Given the description of an element on the screen output the (x, y) to click on. 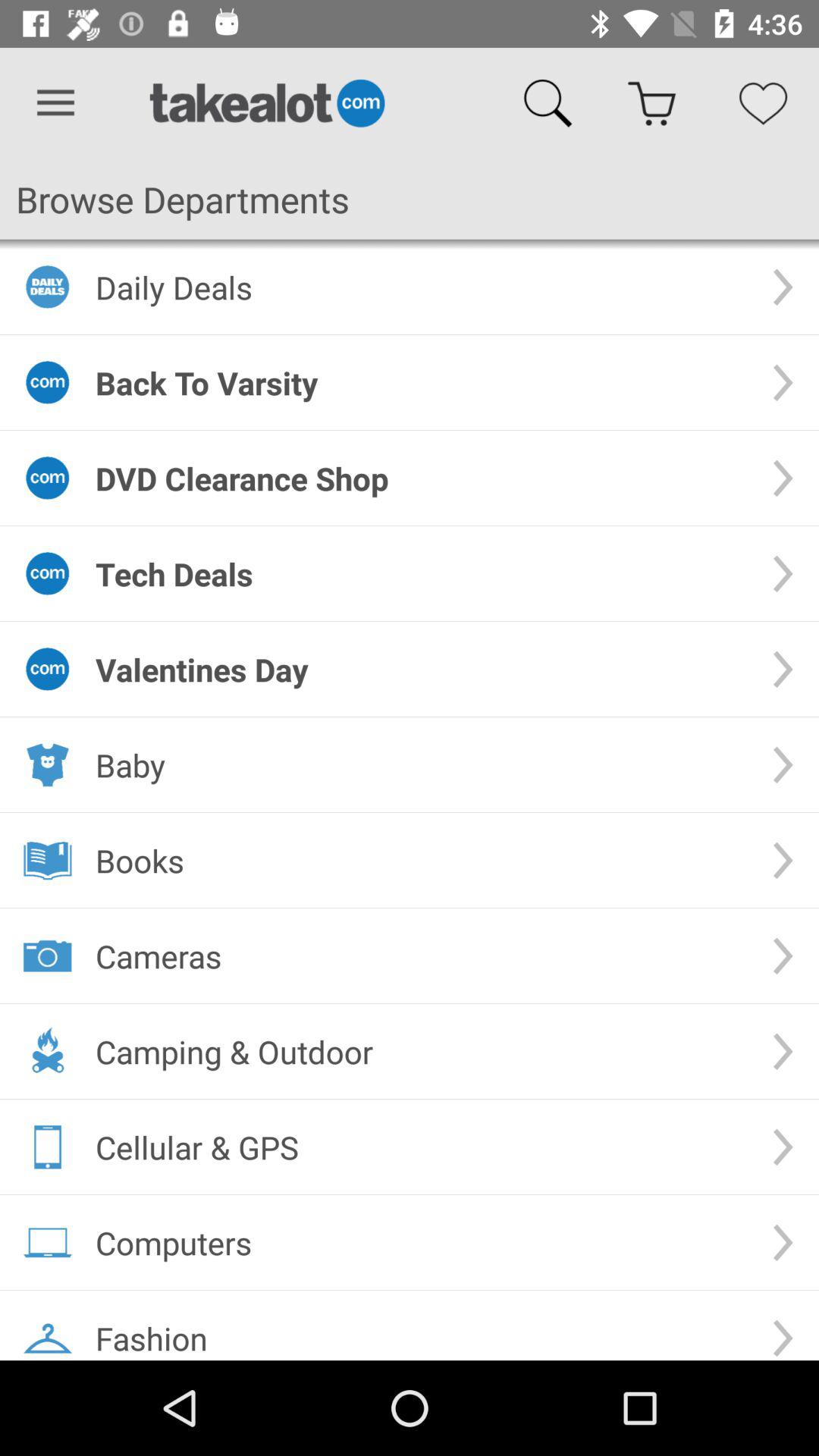
tap the icon above browse departments icon (55, 103)
